Given the description of an element on the screen output the (x, y) to click on. 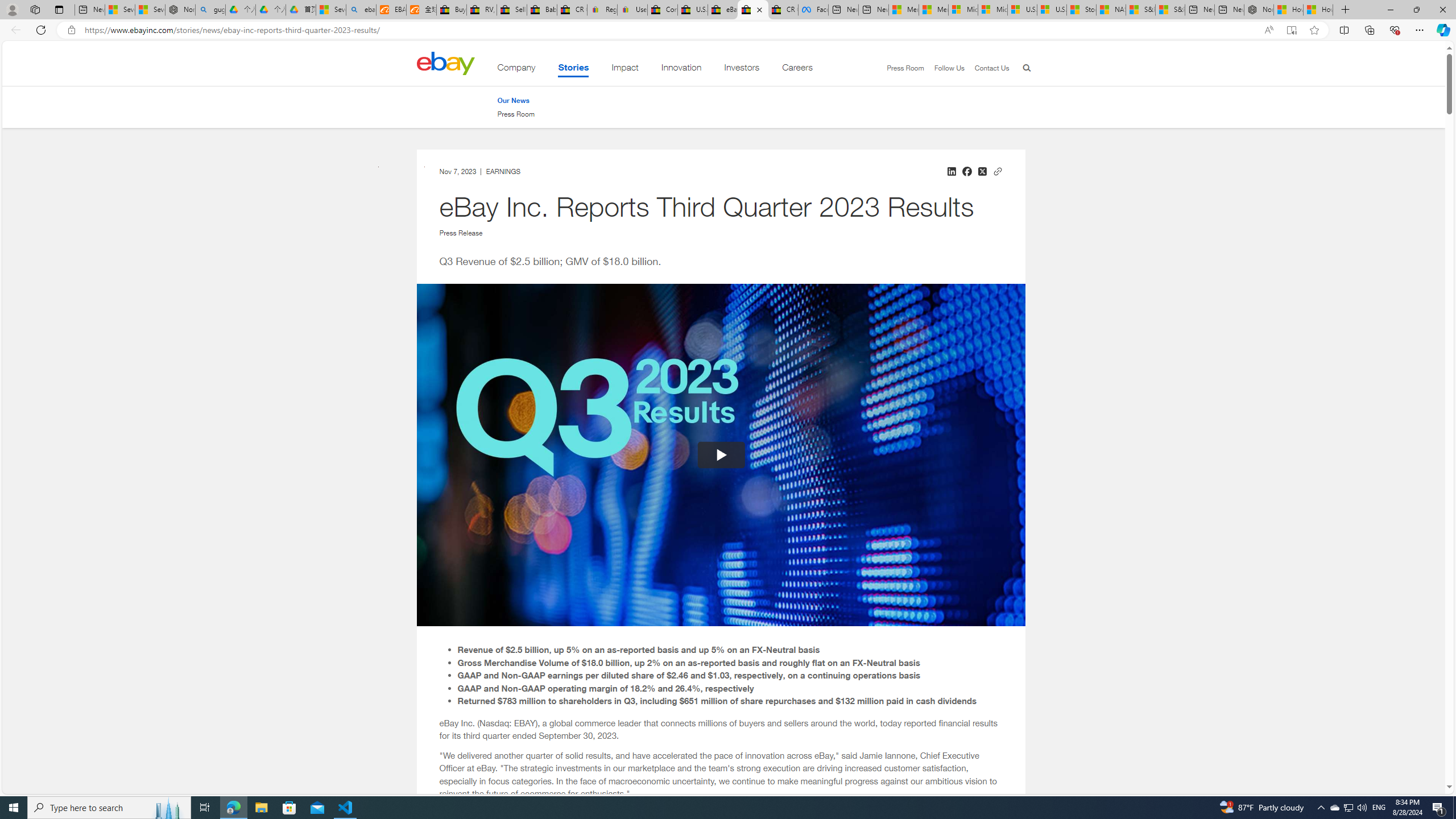
Baby Keepsakes & Announcements for sale | eBay (542, 9)
AutomationID: Group_1_1_ (721, 454)
Enter Immersive Reader (F9) (1291, 29)
Settings and more (Alt+F) (1419, 29)
Class: desktop (445, 63)
Read aloud this page (Ctrl+Shift+U) (1268, 29)
Our News (512, 99)
Restore (1416, 9)
eBay Inc. Reports Third Quarter 2023 Results (753, 9)
